Given the description of an element on the screen output the (x, y) to click on. 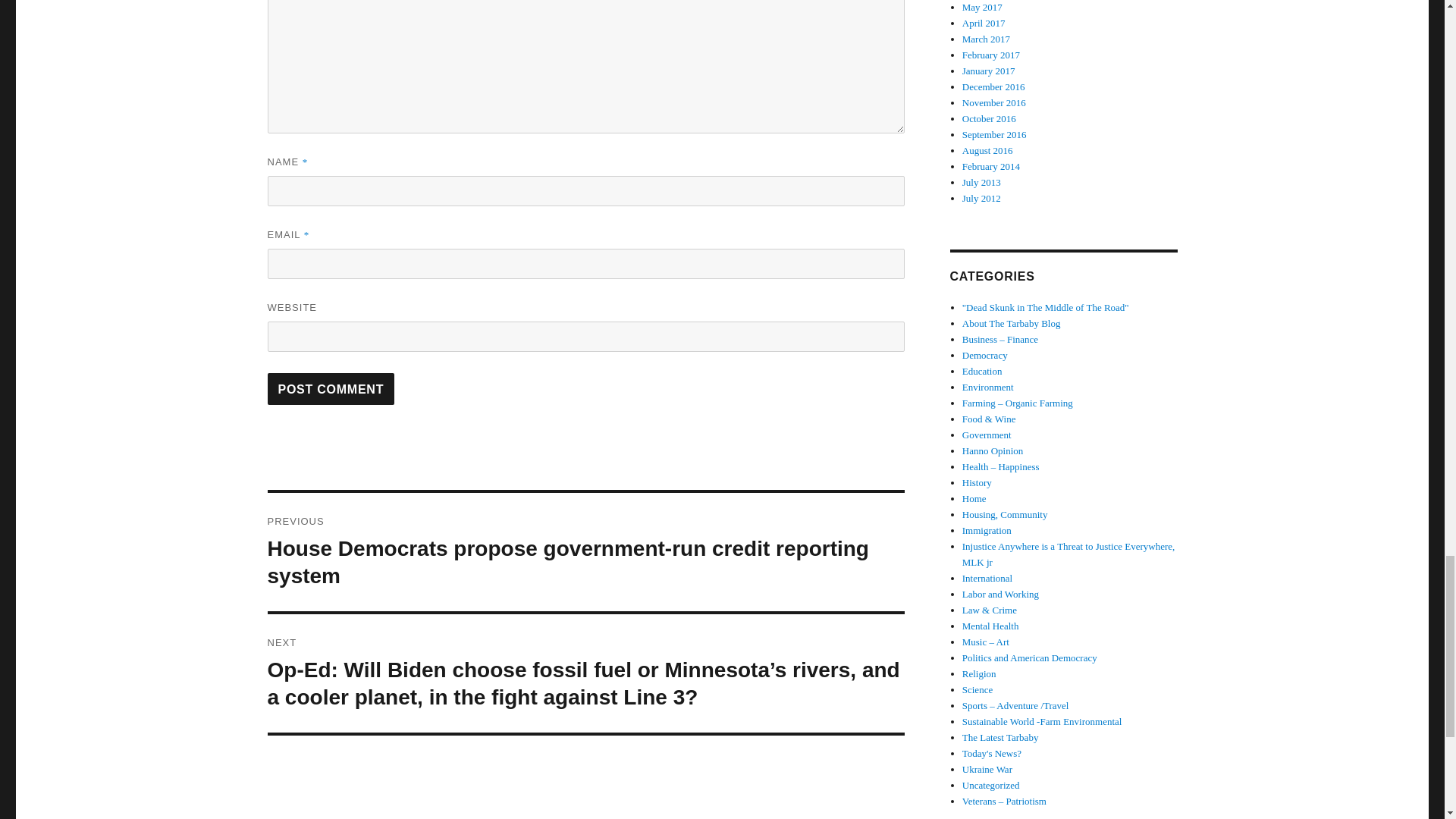
Issues and events that stink to high heaven (1045, 307)
Presenting another Tarbaby (1000, 737)
Post Comment (330, 388)
Stories of injustice and justice (1068, 554)
Post Comment (330, 388)
Read about the origins of this Tarbaby Blog (1011, 323)
